Given the description of an element on the screen output the (x, y) to click on. 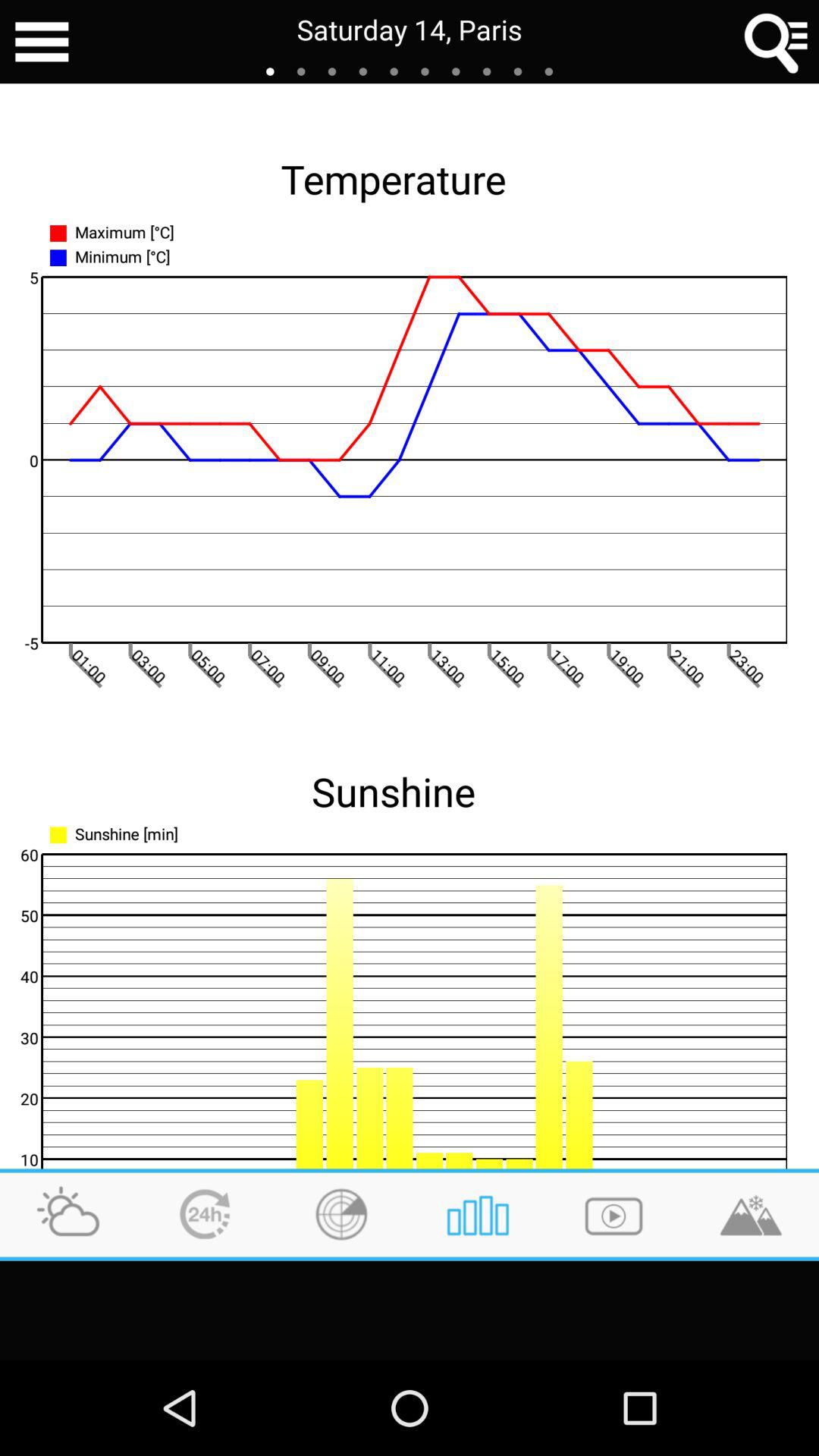
search (777, 41)
